Given the description of an element on the screen output the (x, y) to click on. 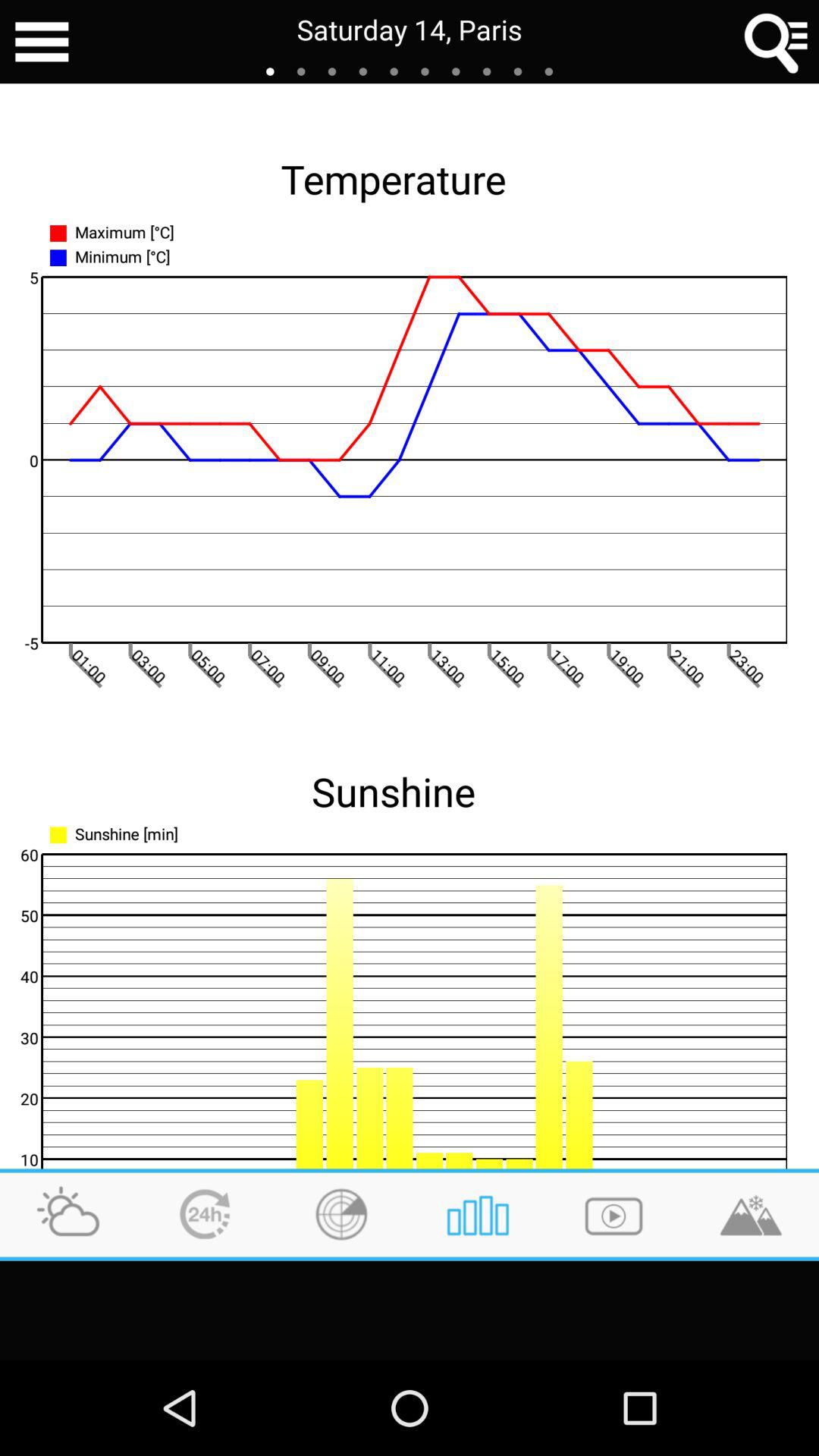
search (777, 41)
